Given the description of an element on the screen output the (x, y) to click on. 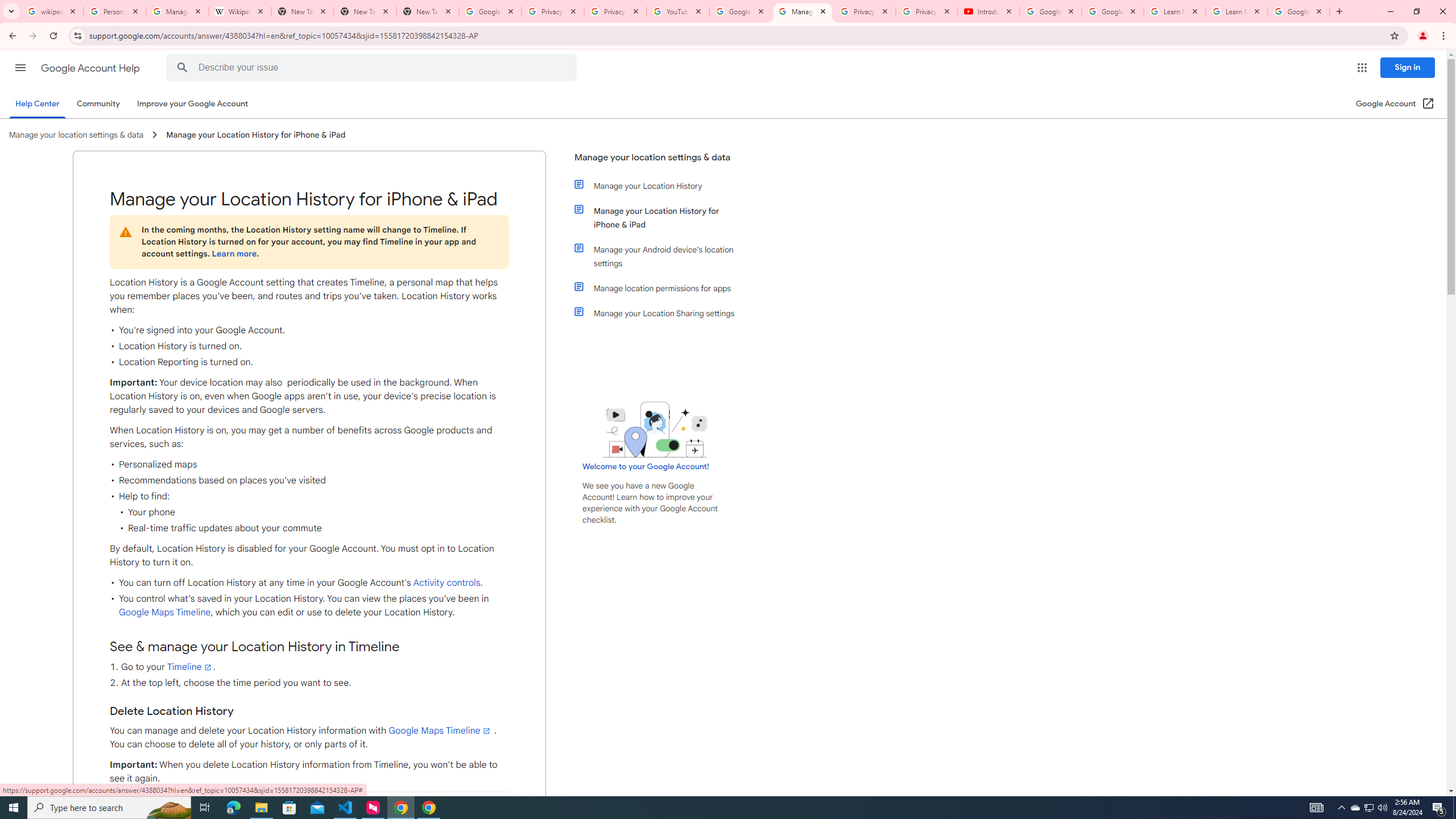
Personalization & Google Search results - Google Search Help (114, 11)
Describe your issue (373, 67)
Google Maps Timeline (440, 730)
Google Account Help (91, 68)
Manage your Location History - Google Search Help (177, 11)
Manage your Location Sharing settings (661, 312)
Google Account Help (1111, 11)
